Given the description of an element on the screen output the (x, y) to click on. 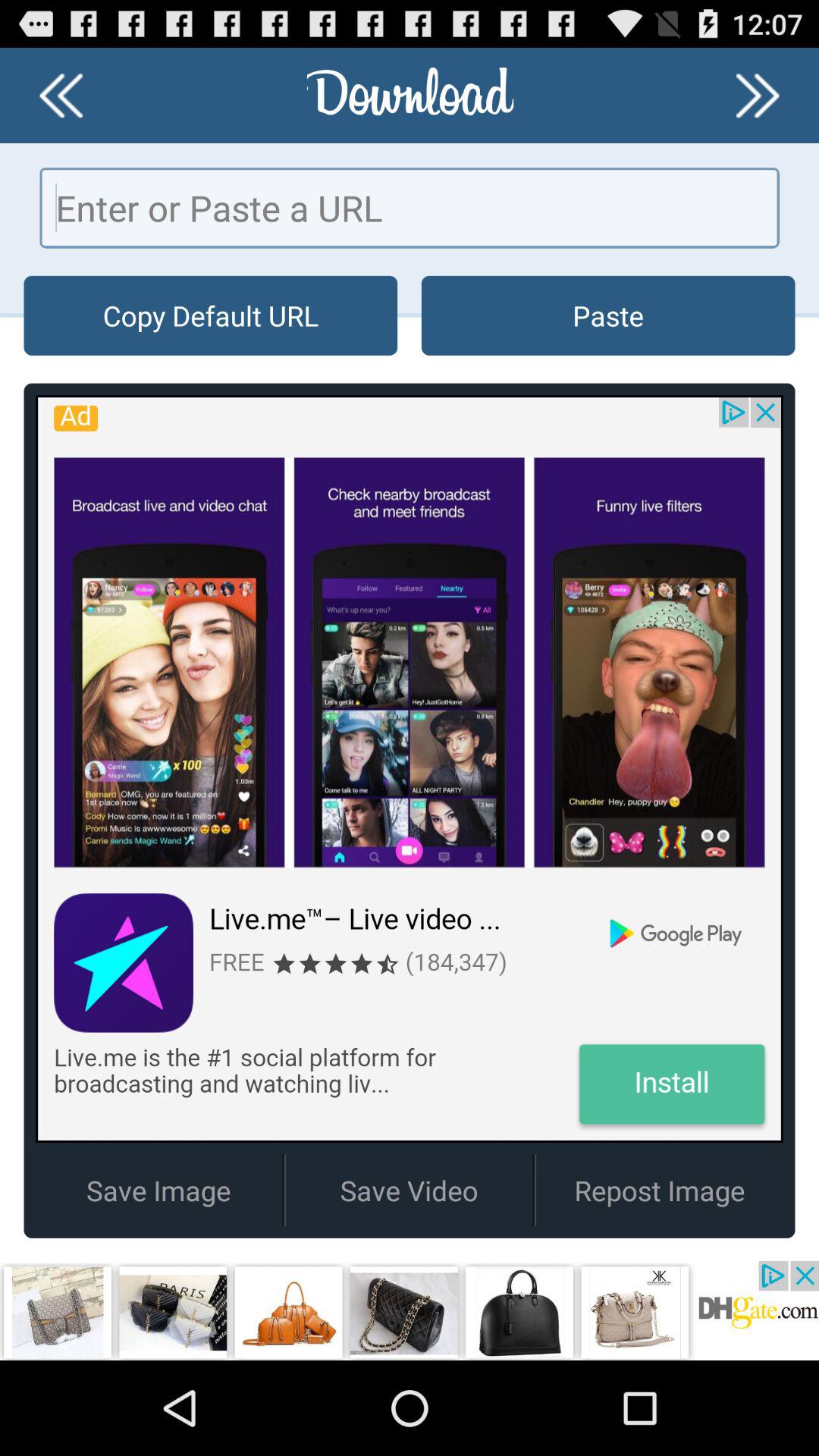
previous option (61, 95)
